Given the description of an element on the screen output the (x, y) to click on. 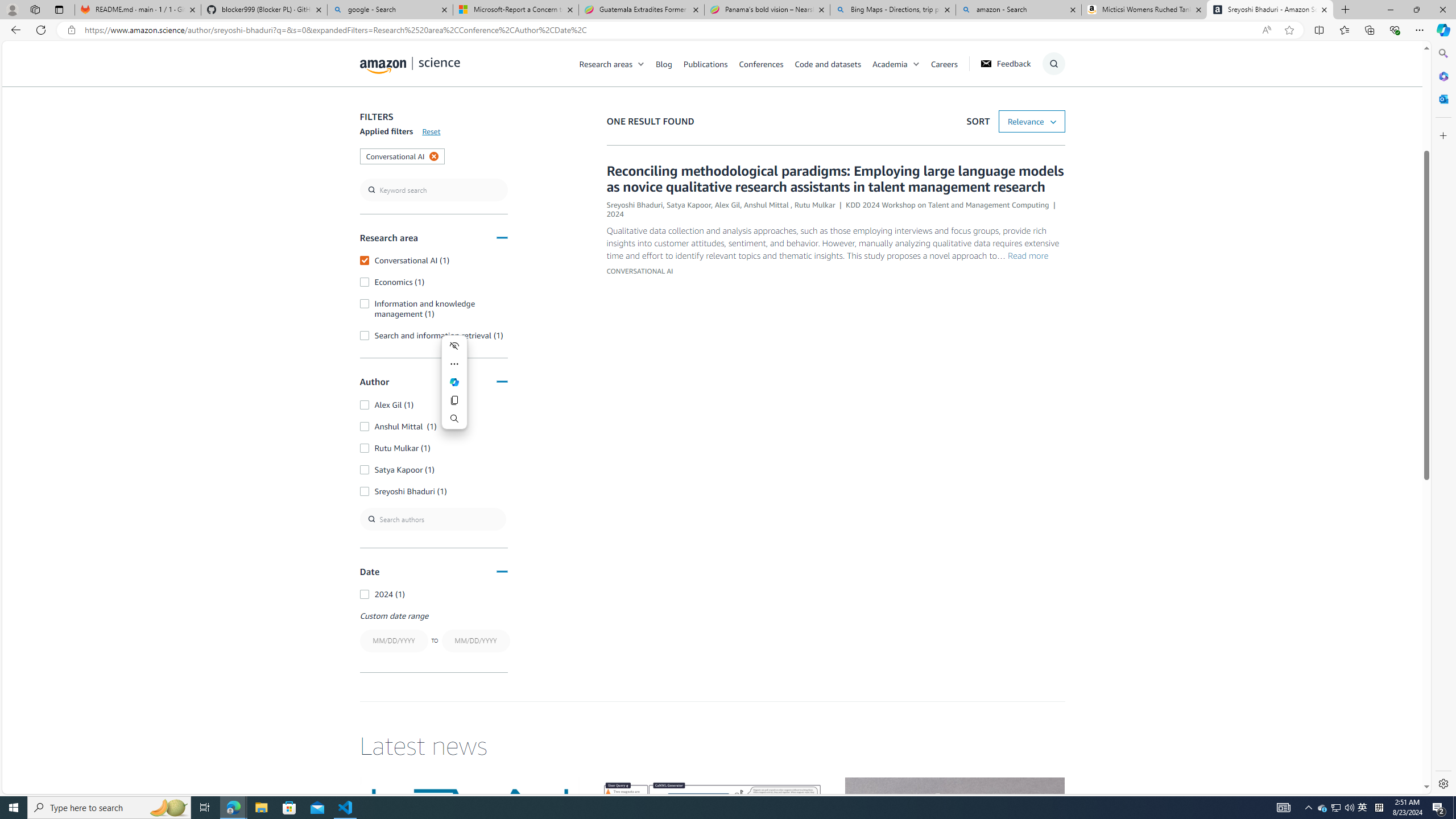
Browser essentials (1394, 29)
Refresh (40, 29)
Publications (710, 63)
Collections (1369, 29)
Read aloud this page (Ctrl+Shift+U) (1266, 29)
Minimize (1390, 9)
Reset (431, 131)
Submit Search (1049, 108)
Open Sub Navigation (916, 63)
Conferences (766, 63)
Mini menu on text selection (454, 382)
